Given the description of an element on the screen output the (x, y) to click on. 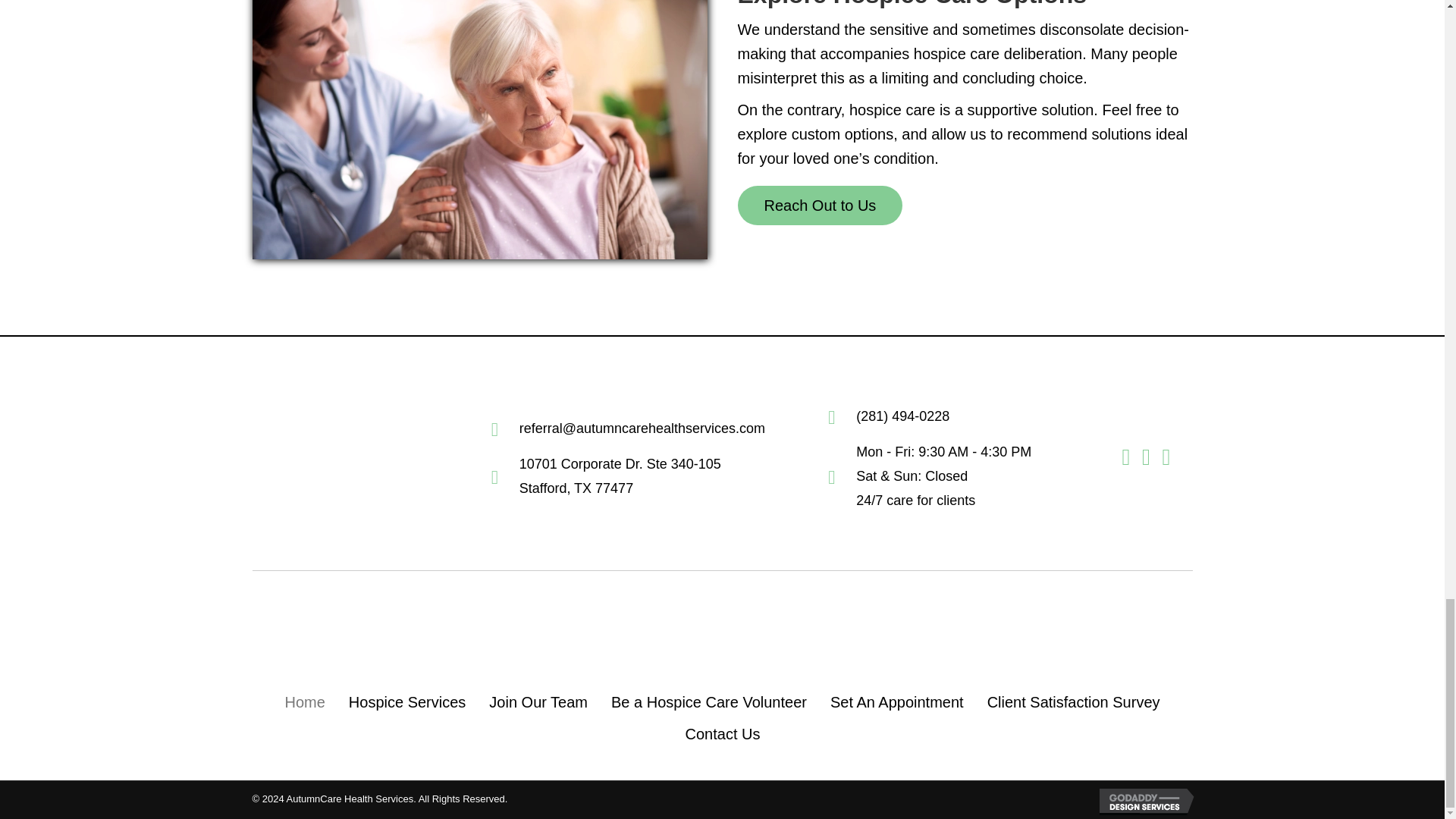
logo (722, 627)
New Project-66 (478, 129)
